Given the description of an element on the screen output the (x, y) to click on. 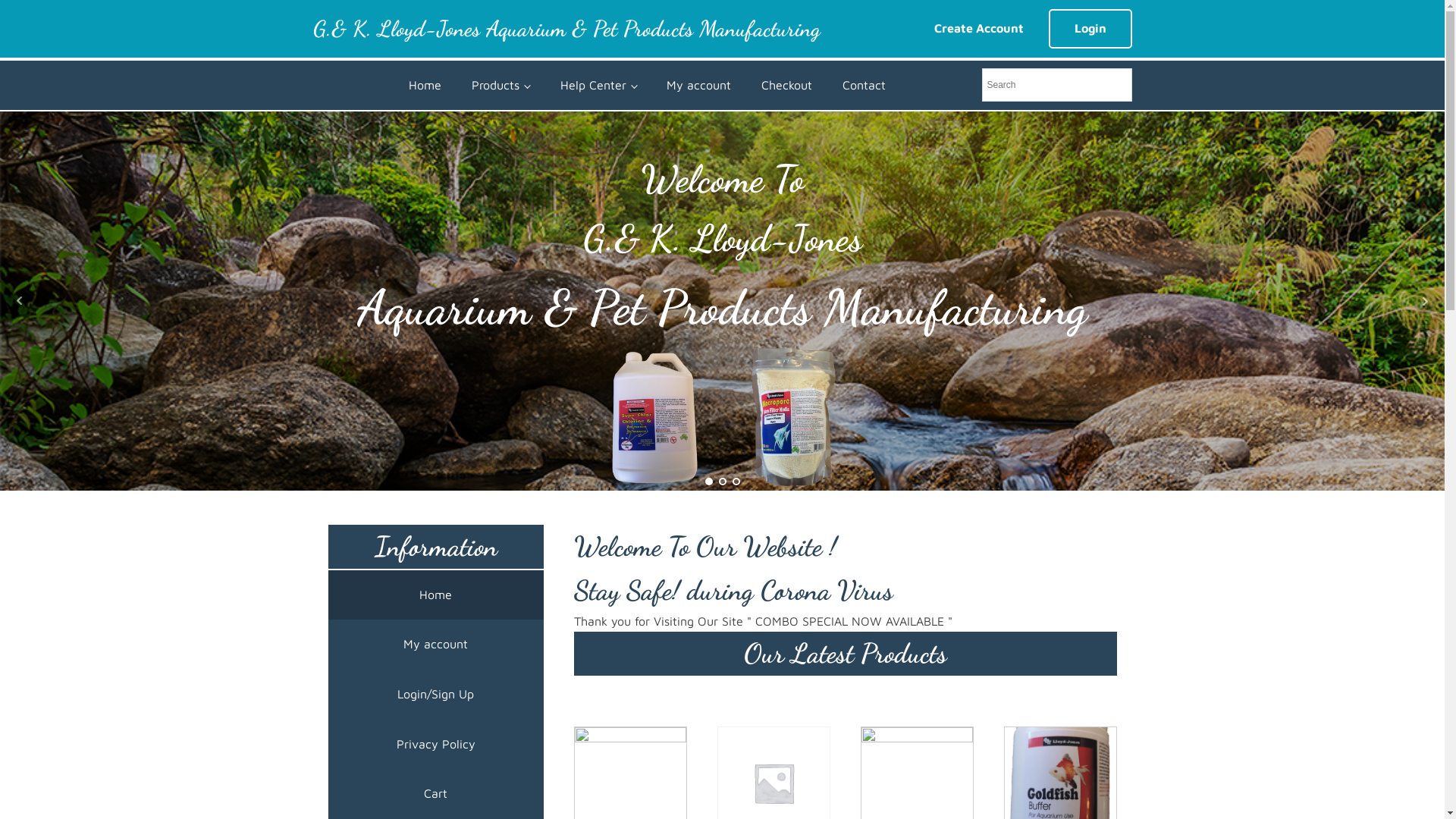
Help Center Element type: text (597, 85)
Contact Element type: text (863, 85)
Prev Element type: text (19, 300)
Products Element type: text (500, 85)
Checkout Element type: text (786, 85)
Create Account Element type: text (978, 28)
G.& K. Lloyd-Jones Aquarium & Pet Products Manufacturing Element type: text (565, 28)
My account Element type: text (698, 85)
Next Element type: text (1424, 300)
Login Element type: text (1089, 28)
Home Element type: text (434, 595)
Home Element type: text (424, 85)
Privacy Policy Element type: text (434, 744)
Login/Sign Up Element type: text (434, 694)
My account Element type: text (434, 644)
